Given the description of an element on the screen output the (x, y) to click on. 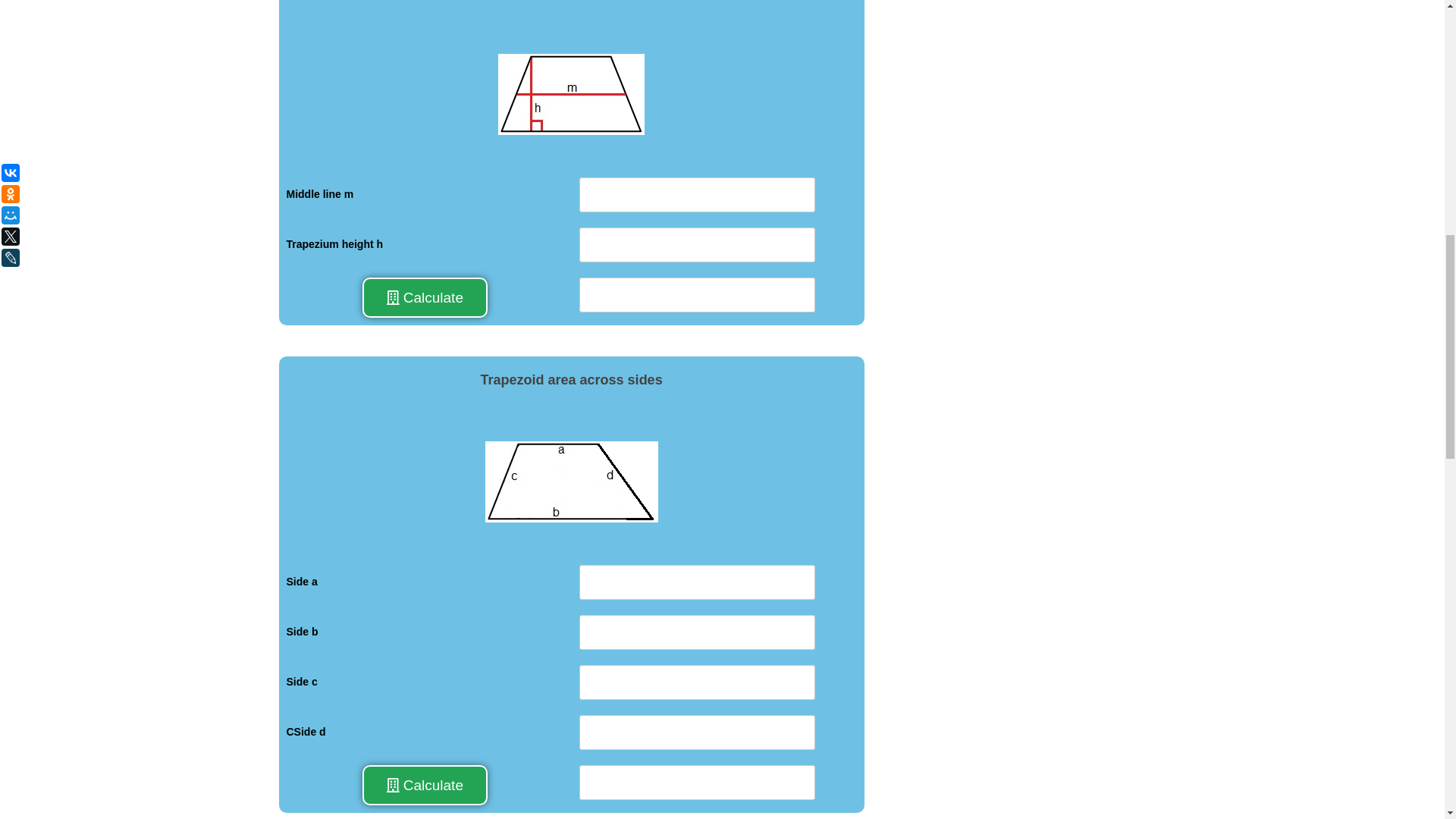
Calculate (424, 784)
Calculate (424, 297)
